Given the description of an element on the screen output the (x, y) to click on. 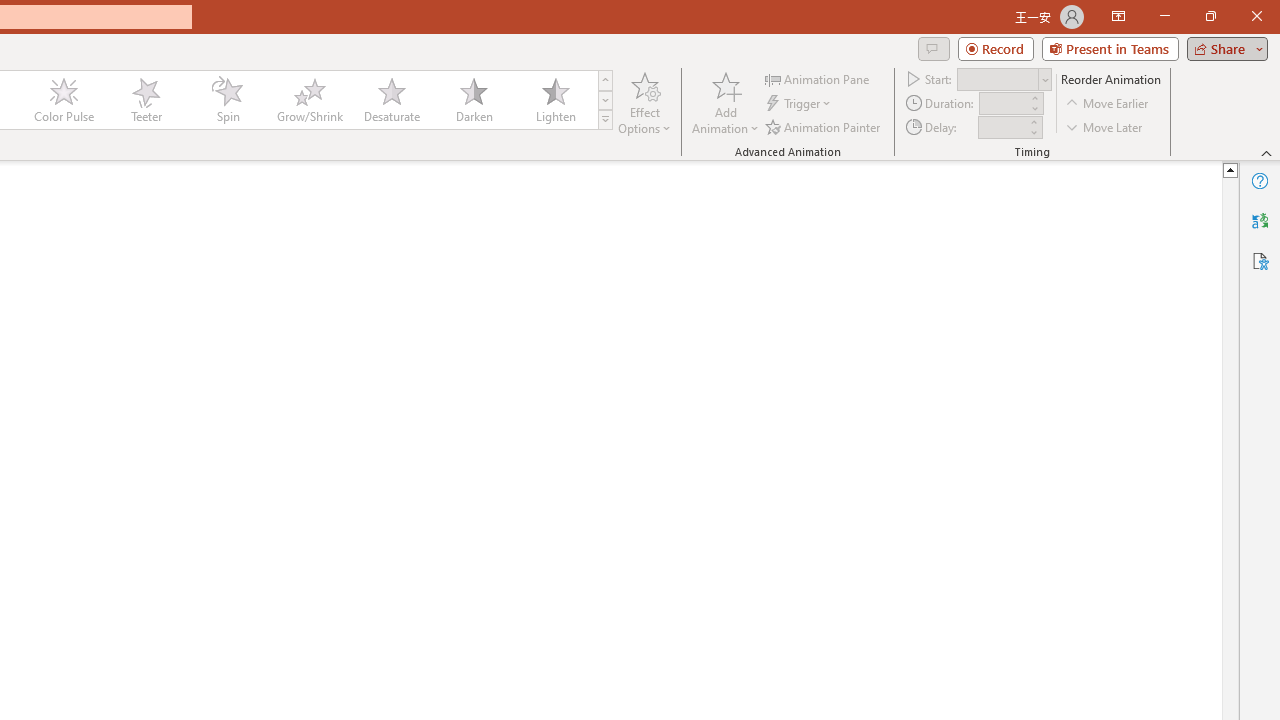
Less (1033, 132)
Trigger (799, 103)
Spin (227, 100)
More (1033, 121)
Teeter (145, 100)
Grow/Shrink (309, 100)
Color Pulse (63, 100)
Effect Options (644, 102)
Animation Pane (818, 78)
Animation Delay (1002, 127)
Move Earlier (1107, 103)
